Given the description of an element on the screen output the (x, y) to click on. 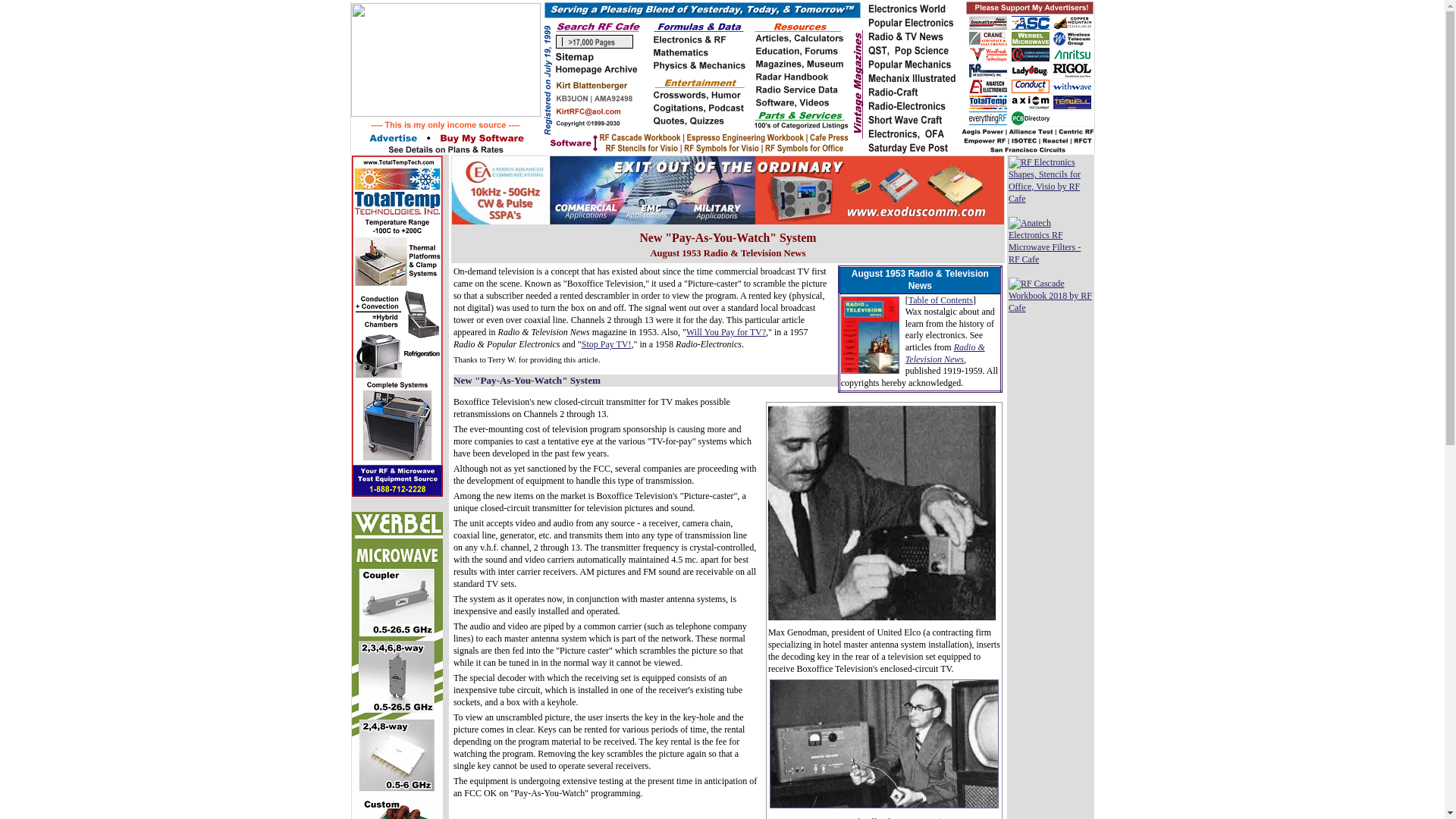
Stop Pay TV! (605, 344)
Will You Pay for TV? (725, 331)
Table of Contents (940, 299)
